Given the description of an element on the screen output the (x, y) to click on. 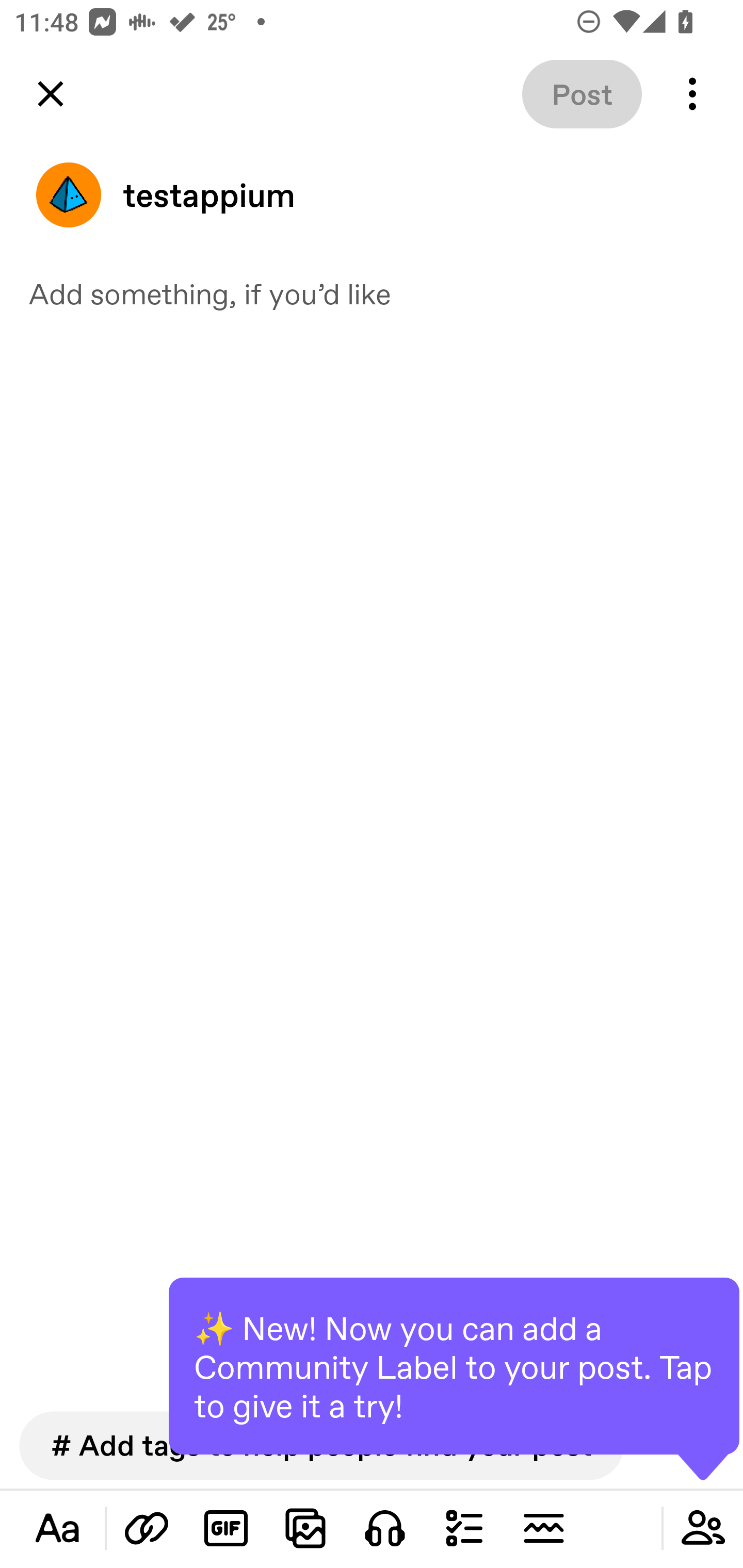
Navigate up (50, 93)
Post (581, 93)
Blog Selector testappium (371, 195)
Add something, if you’d like (371, 293)
Add text to post (57, 1528)
Add text to post (146, 1528)
Add GIF to post (225, 1528)
Add Photo to post (305, 1528)
Add Audio to post (384, 1528)
Add Poll to post (463, 1528)
Add read-more link to post (543, 1528)
Add community label for post (703, 1528)
